Given the description of an element on the screen output the (x, y) to click on. 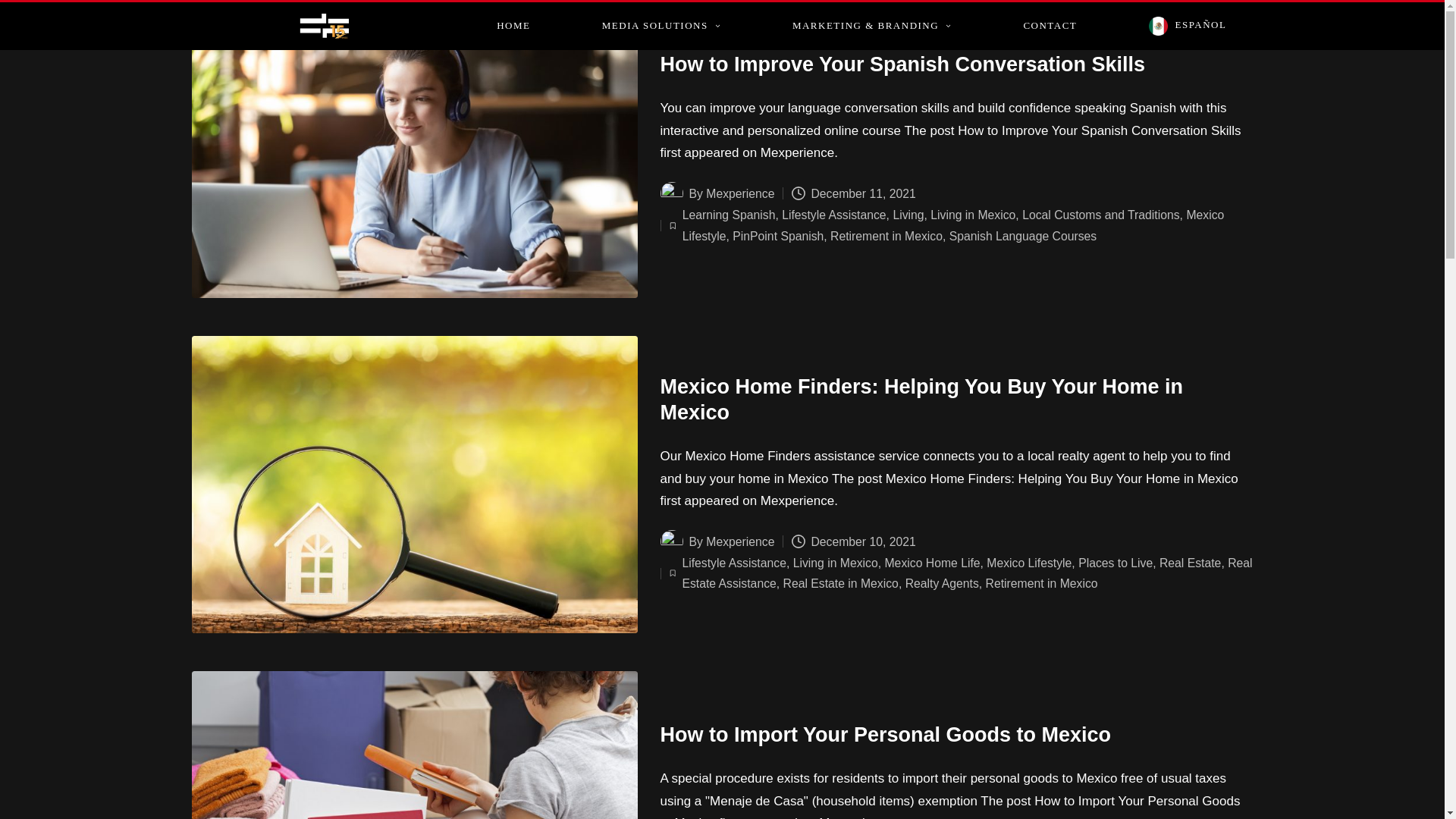
Real Estate (1189, 562)
Mexico Home Finders: Helping You Buy Your Home in Mexico (920, 399)
Lifestyle Assistance (733, 562)
Living in Mexico (972, 214)
Local Customs and Traditions (1100, 214)
View all posts by Mexperience (740, 541)
HOME (512, 26)
Spanish Language Courses (1022, 236)
Mexico Lifestyle (1029, 562)
Mexperience (740, 541)
MEDIA SOLUTIONS (661, 26)
PinPoint Spanish (778, 236)
CONTACT (1050, 26)
Mexico Home Life (931, 562)
View all posts by Mexperience (740, 193)
